Given the description of an element on the screen output the (x, y) to click on. 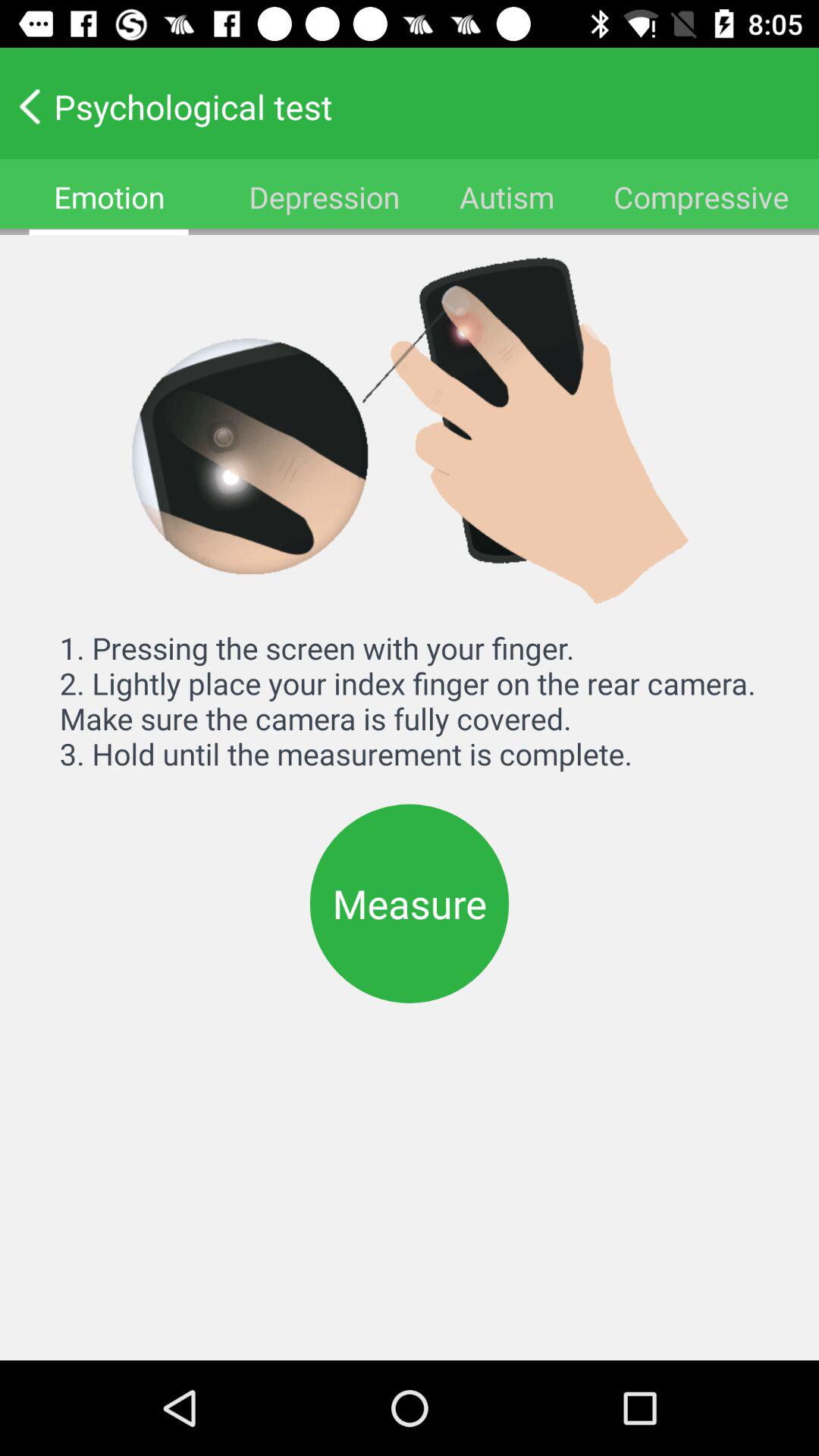
tap item to the left of the compressive (506, 196)
